Given the description of an element on the screen output the (x, y) to click on. 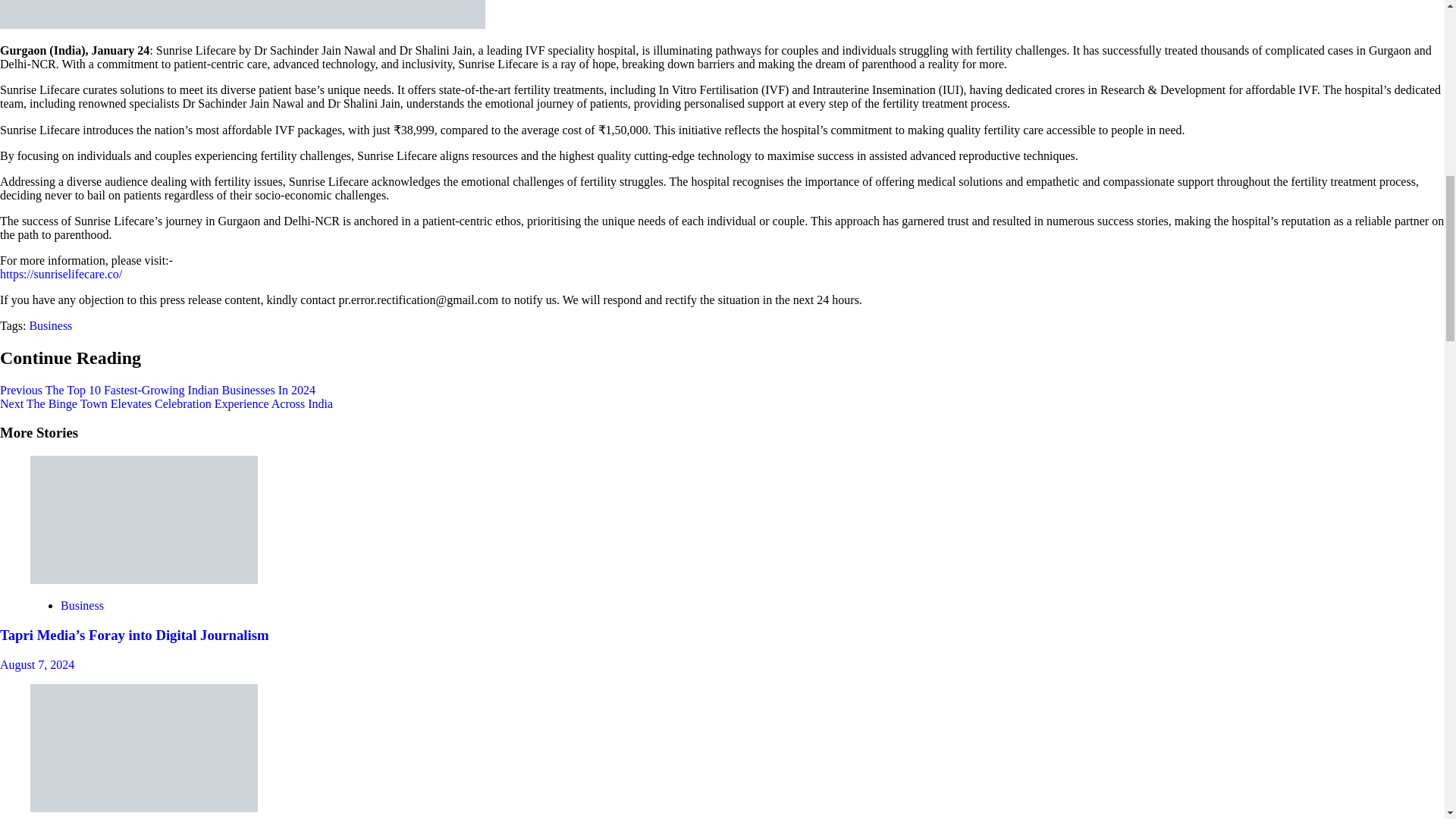
August 7, 2024 (37, 664)
Business (82, 604)
Business (50, 325)
